Given the description of an element on the screen output the (x, y) to click on. 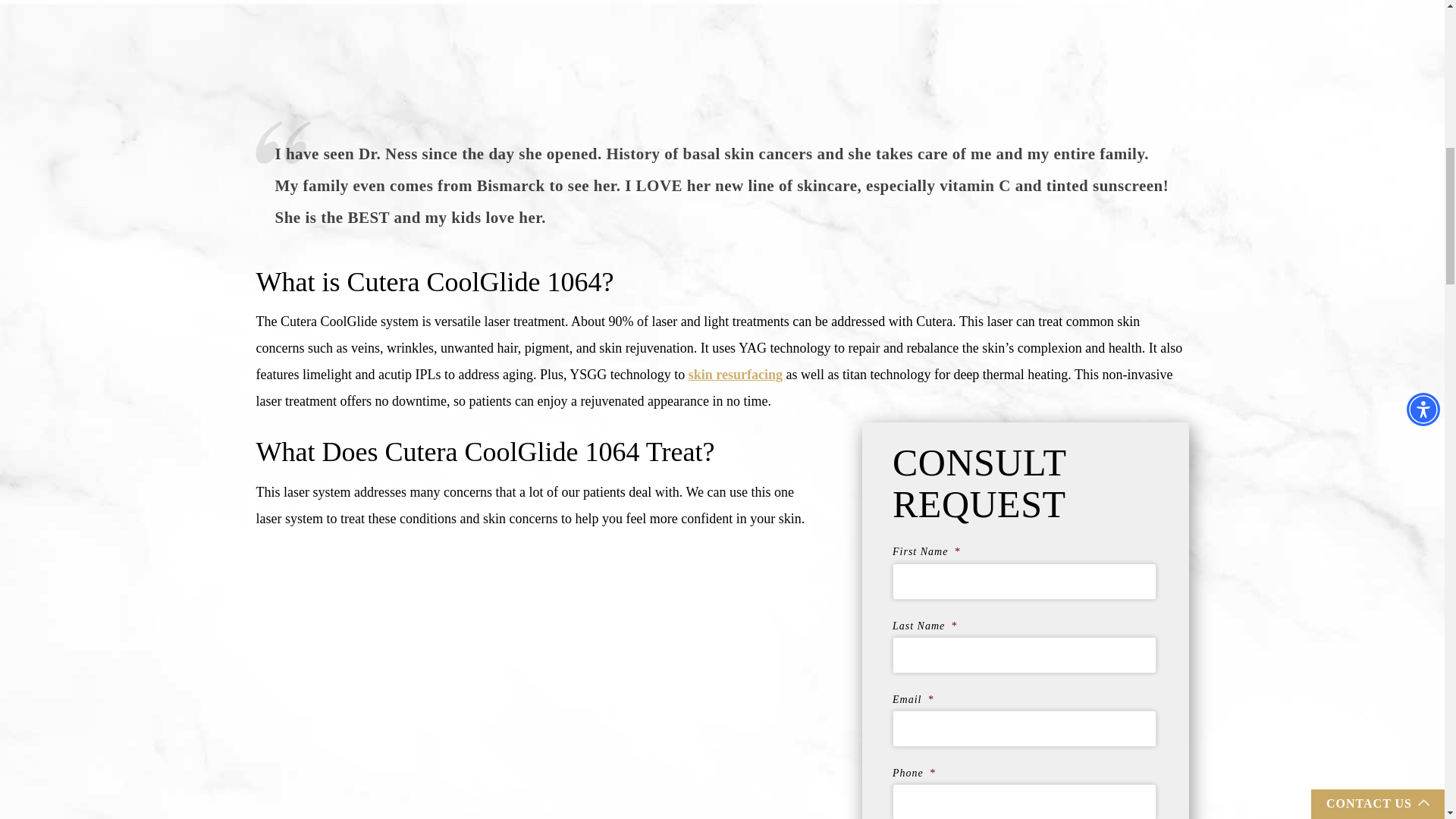
Laser Genesis Procedure at Fargo Center for Dermatology (498, 676)
